Given the description of an element on the screen output the (x, y) to click on. 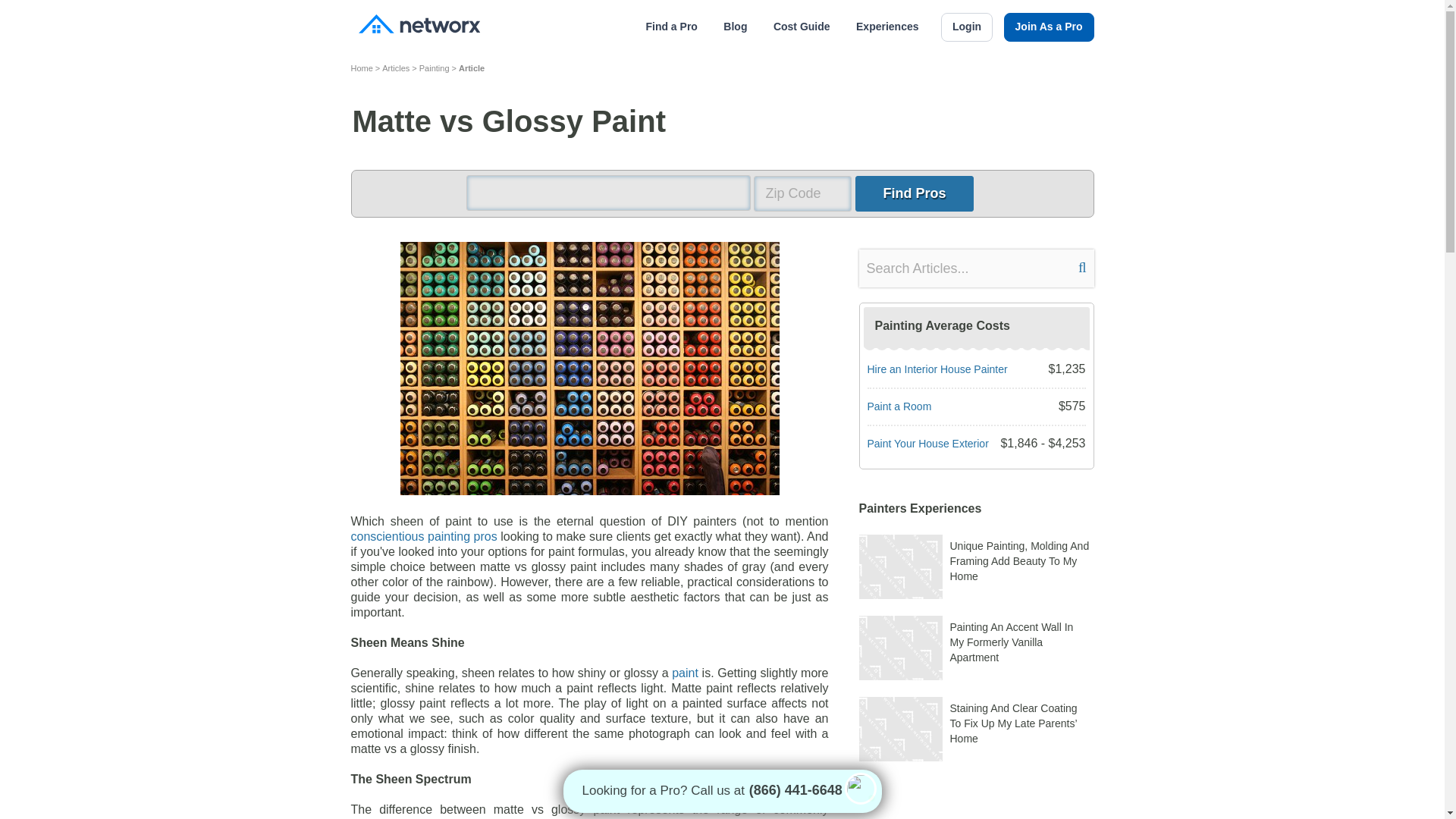
Please enter a valid zip code (802, 193)
Cost Guide (801, 26)
Join As a Pro (1049, 27)
Find Pros (914, 193)
Home (361, 67)
Find a Pro (670, 26)
Find Pros (914, 193)
Articles (395, 67)
Painting (434, 67)
Login (966, 27)
